Given the description of an element on the screen output the (x, y) to click on. 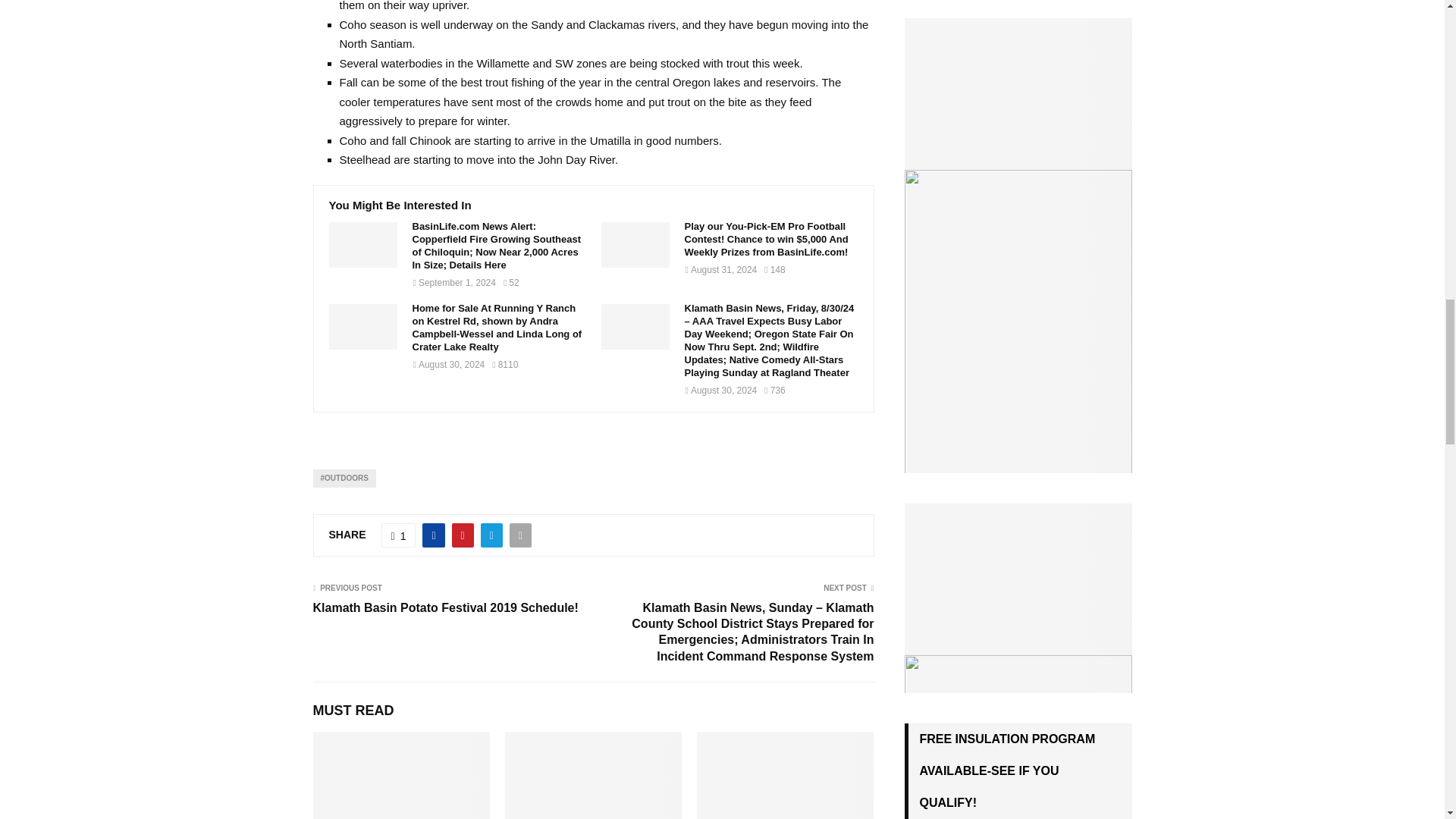
Like (398, 535)
